Given the description of an element on the screen output the (x, y) to click on. 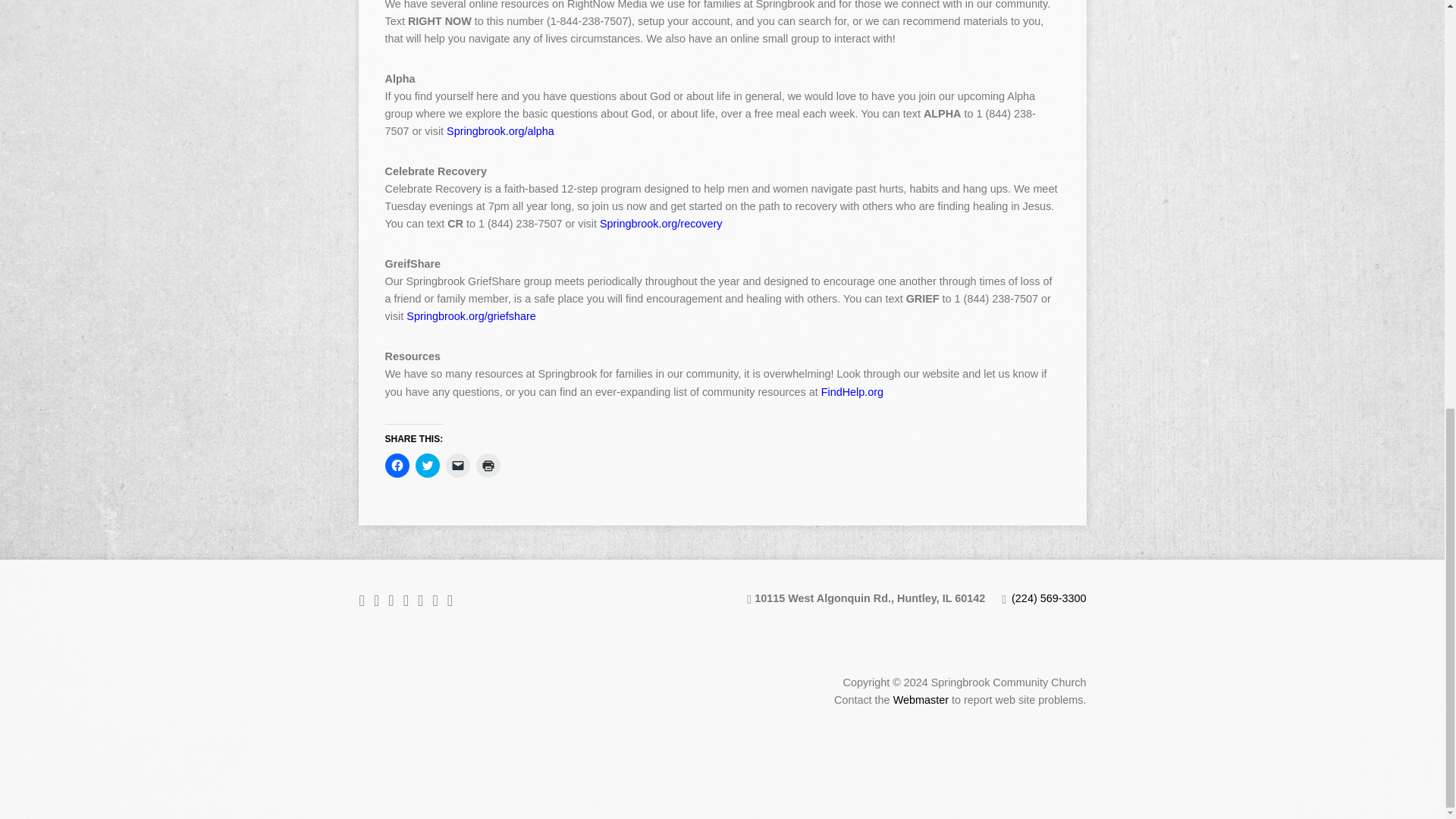
Click to email a link to a friend (457, 465)
Twitter (390, 600)
Podcast (362, 600)
nextdoor.com (449, 600)
Click to share on Facebook (397, 465)
Click to print (488, 465)
Click to share on Twitter (426, 465)
Vimeo (420, 600)
yelp.com (435, 600)
Facebook (376, 600)
Instagram (406, 600)
